Given the description of an element on the screen output the (x, y) to click on. 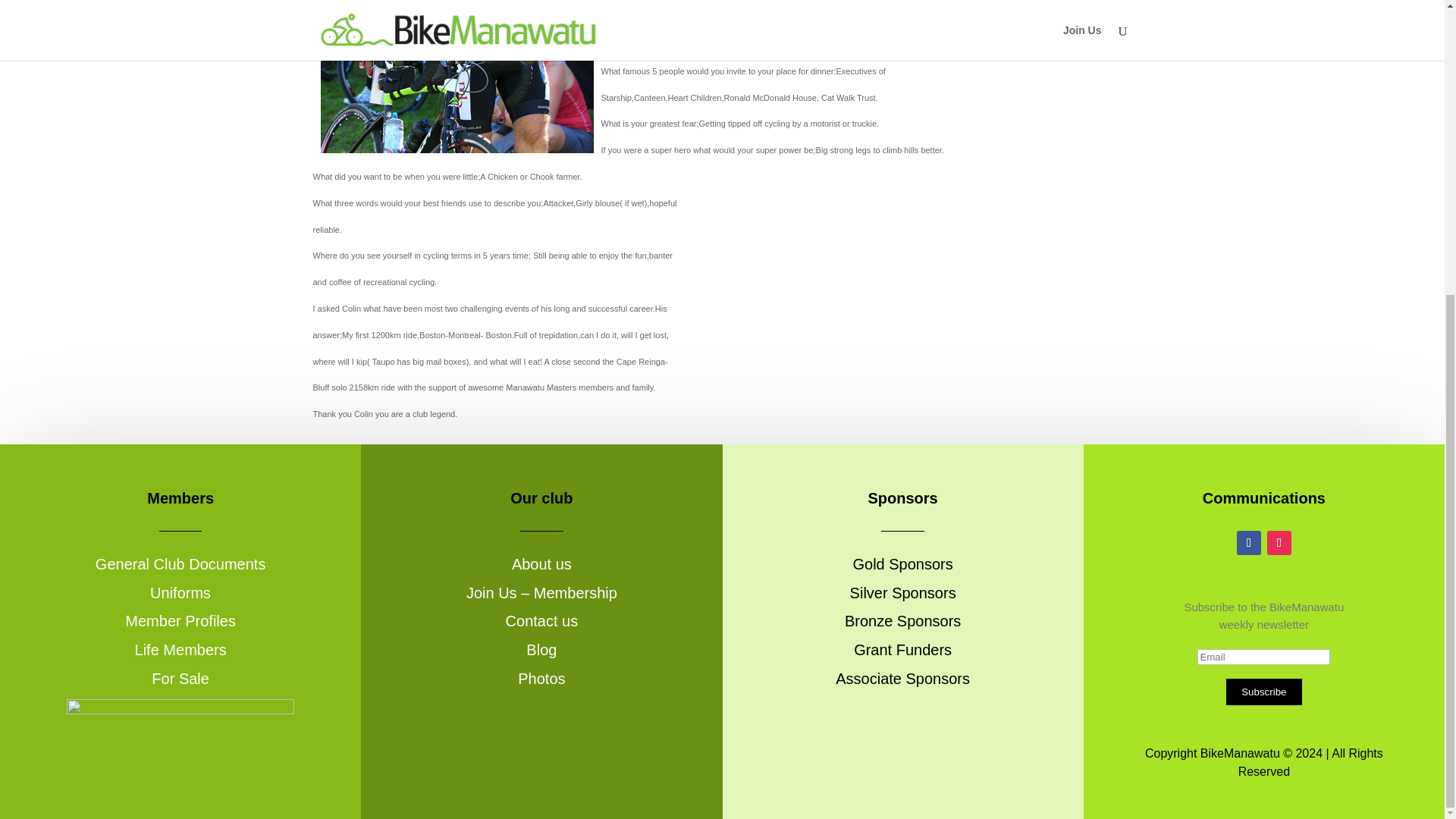
Follow on Facebook (1248, 542)
Subscribe (1263, 691)
Follow on Instagram (1278, 542)
BikeManawatuHorizontal2 (180, 711)
